Given the description of an element on the screen output the (x, y) to click on. 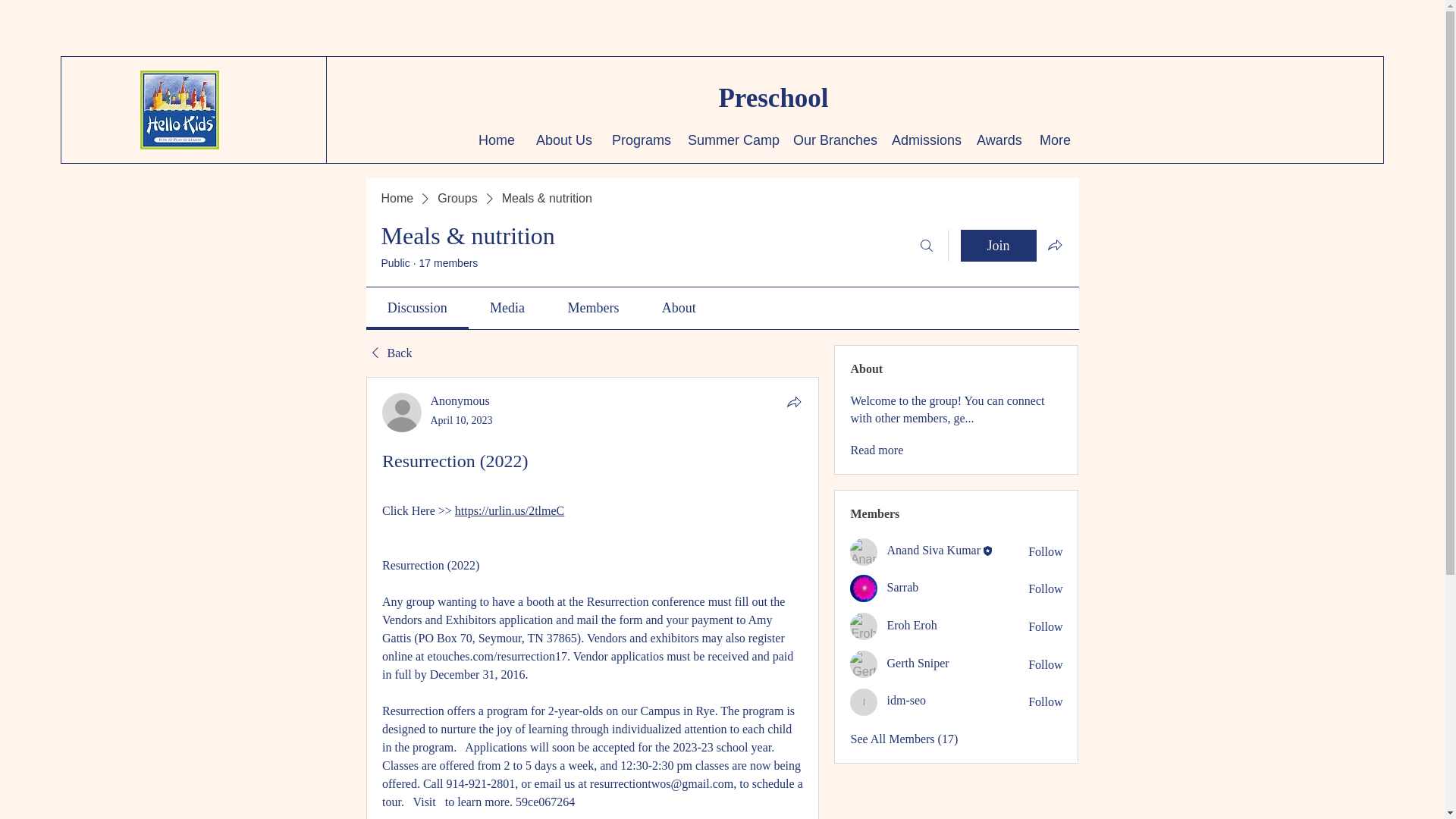
Anand Siva Kumar (863, 551)
Preschool (772, 98)
Summer Camp (729, 139)
Follow (1044, 551)
Back (388, 352)
Follow (1044, 701)
Admissions (922, 139)
Read more (876, 450)
Eroh Eroh (863, 625)
Home (495, 139)
Our Branches (830, 139)
idm-seo (863, 701)
Follow (1044, 627)
Sarrab (863, 587)
Awards (996, 139)
